Given the description of an element on the screen output the (x, y) to click on. 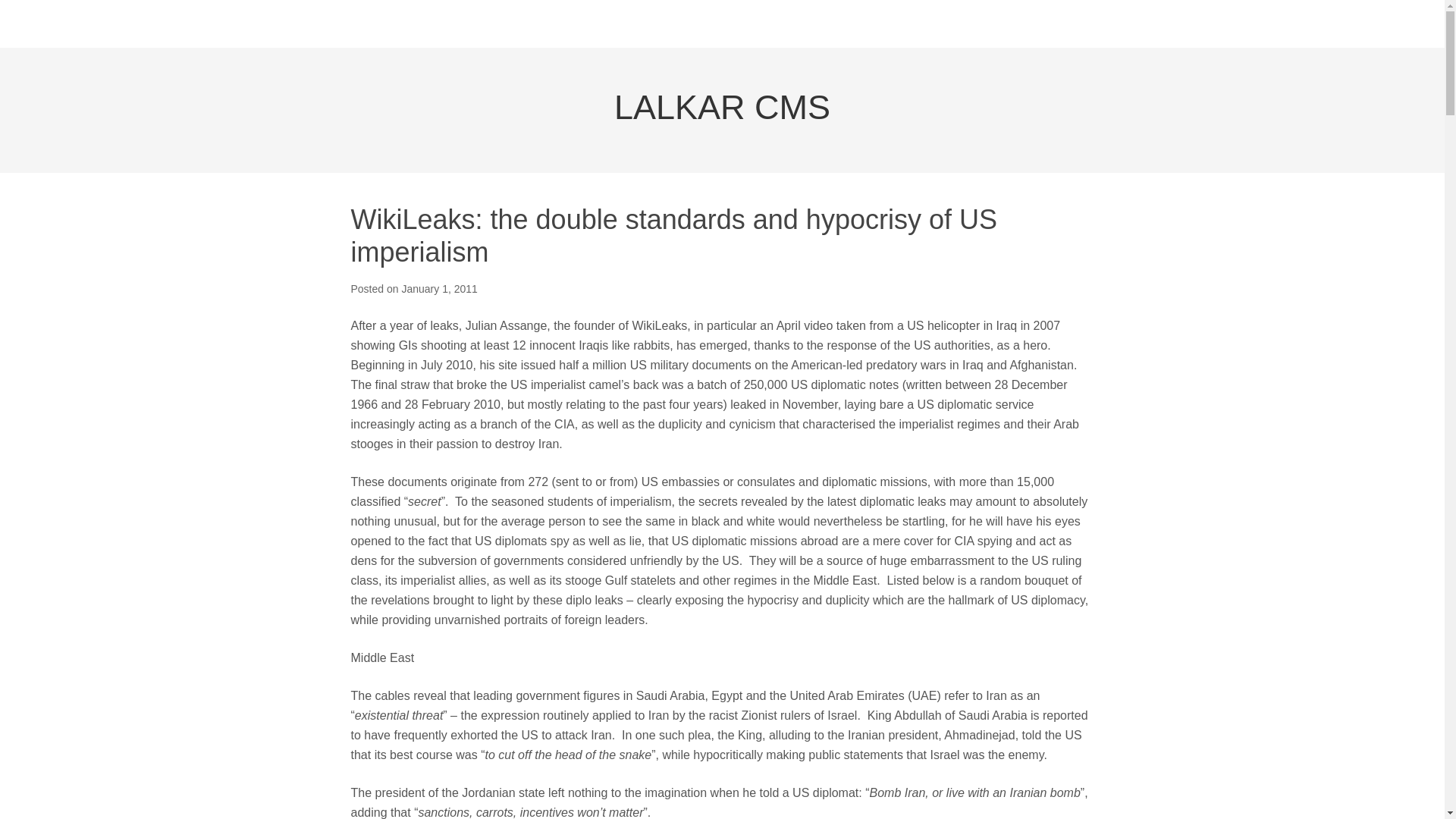
Saturday, January 1, 2011, 12:00 am (439, 288)
LALKAR CMS (721, 106)
LALKAR CMS (721, 106)
